Given the description of an element on the screen output the (x, y) to click on. 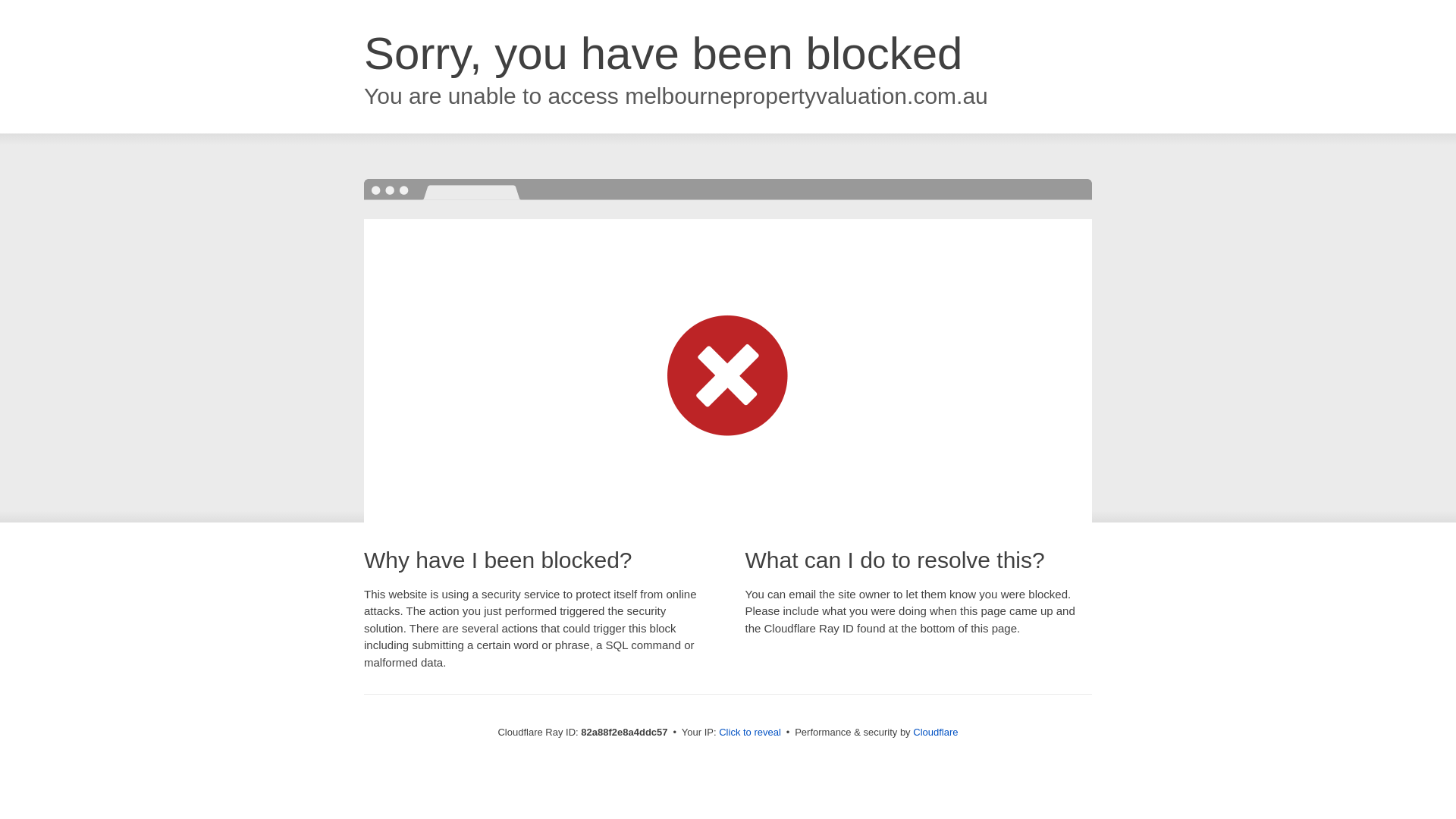
Cloudflare Element type: text (935, 731)
Click to reveal Element type: text (749, 732)
